Given the description of an element on the screen output the (x, y) to click on. 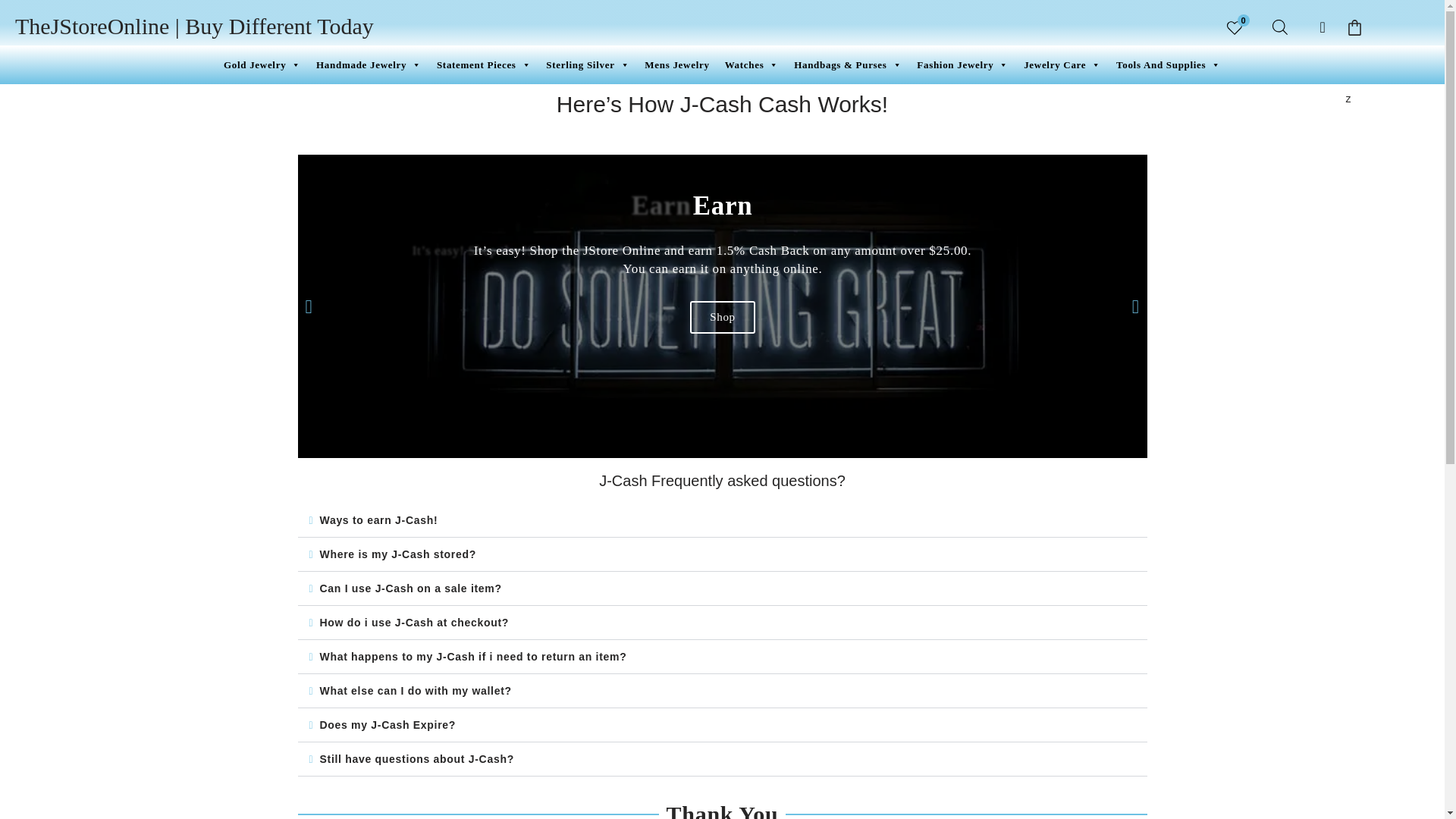
Skip to content (11, 31)
Handmade Jewelry (368, 64)
0 (1234, 27)
Gold Jewelry (261, 64)
